Given the description of an element on the screen output the (x, y) to click on. 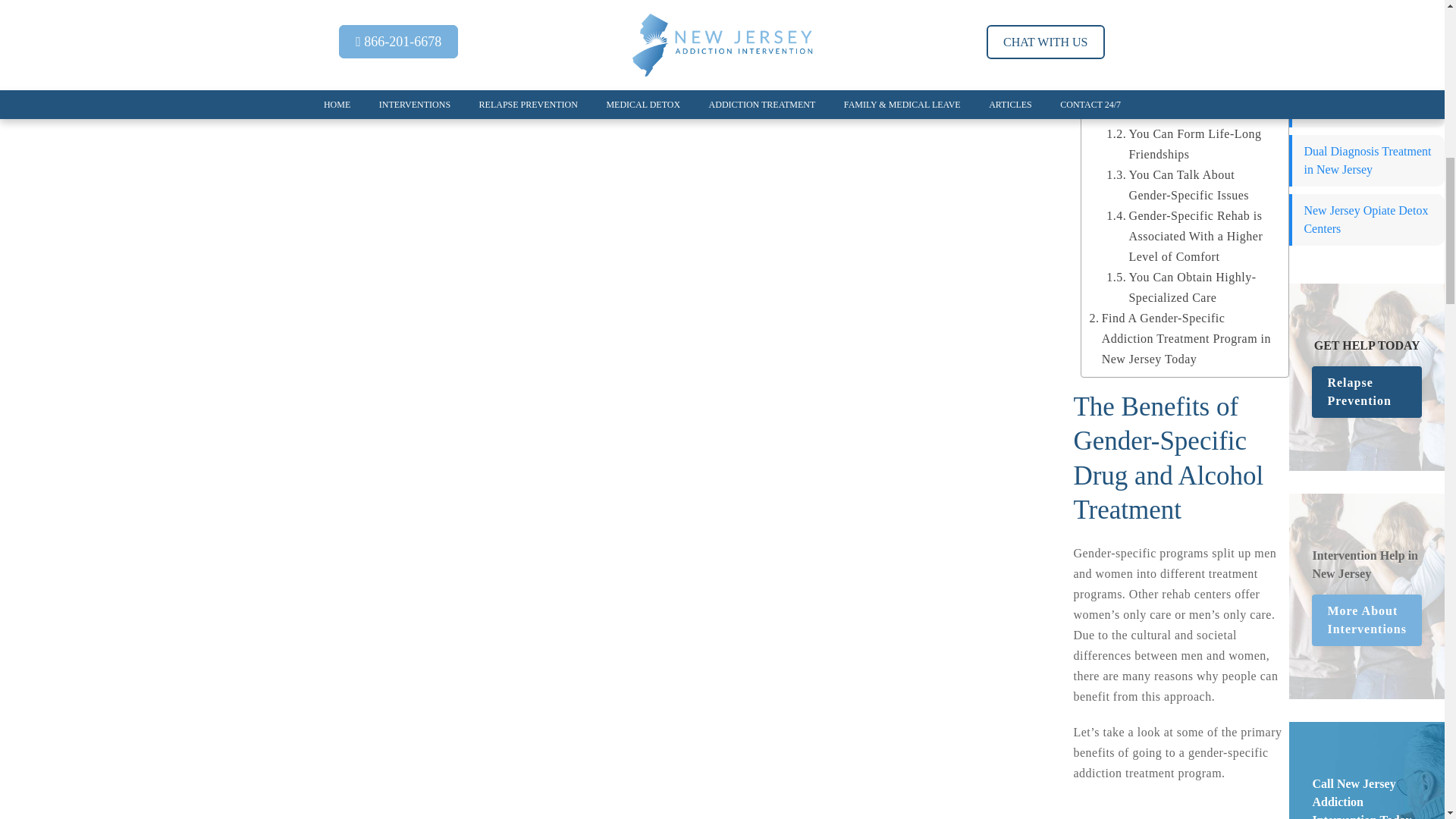
You Can Form Life-Long Friendships (1189, 143)
You Can Talk About Gender-Specific Issues (1189, 184)
Straight Patients Have Fewer Distractions in Rehab (1189, 92)
The Benefits of Gender-Specific Drug and Alcohol Treatment (1180, 41)
You Can Obtain Highly-Specialized Care (1189, 286)
